Given the description of an element on the screen output the (x, y) to click on. 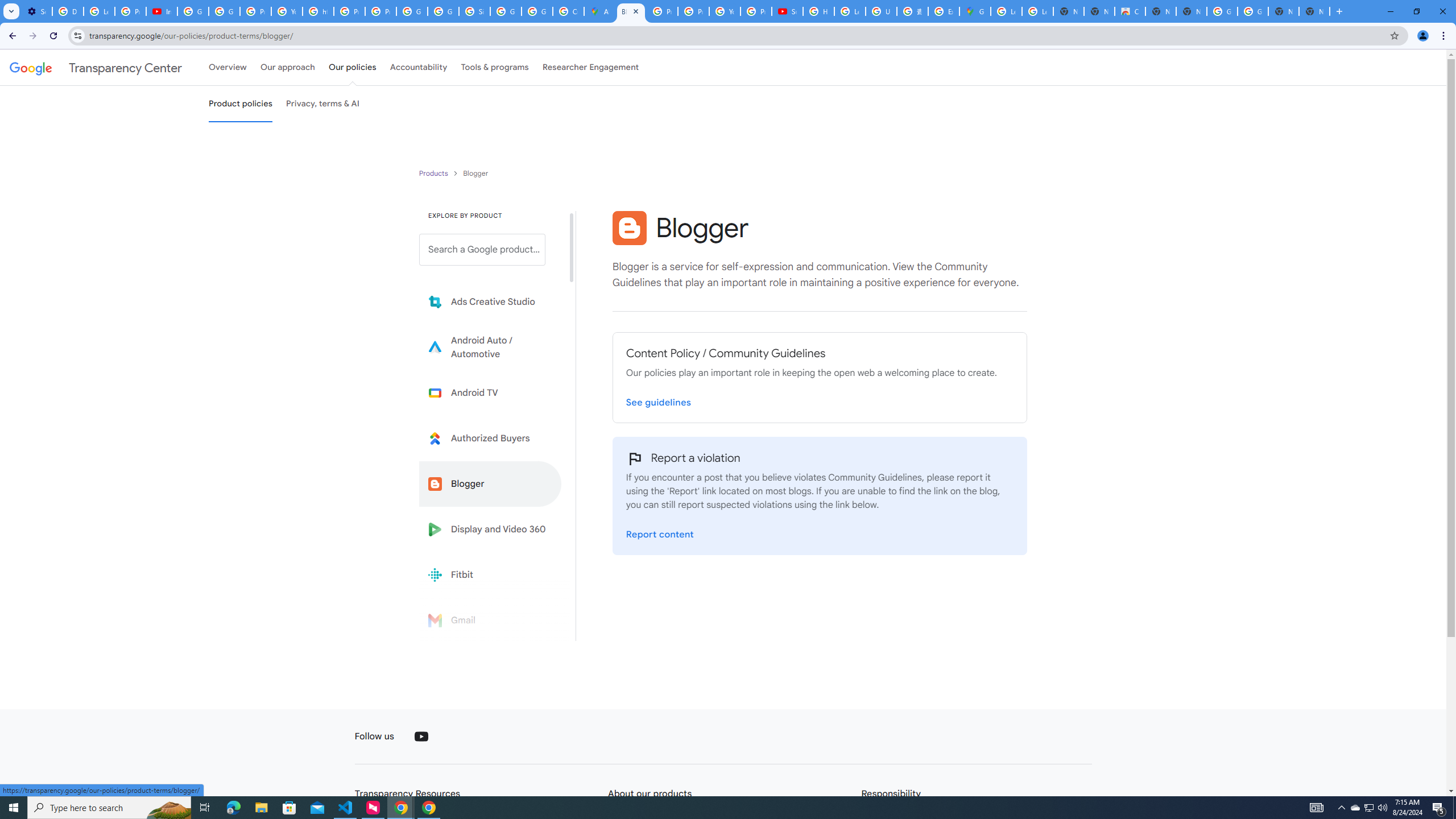
Learn more about Android TV (490, 393)
Accountability (418, 67)
Transparency Center (95, 67)
Privacy, terms & AI (322, 103)
YouTube (421, 736)
Learn more about Authorized Buyers (490, 438)
Learn more about Ads Creative Studio (490, 302)
Fitbit (490, 574)
Blogger (490, 483)
